Given the description of an element on the screen output the (x, y) to click on. 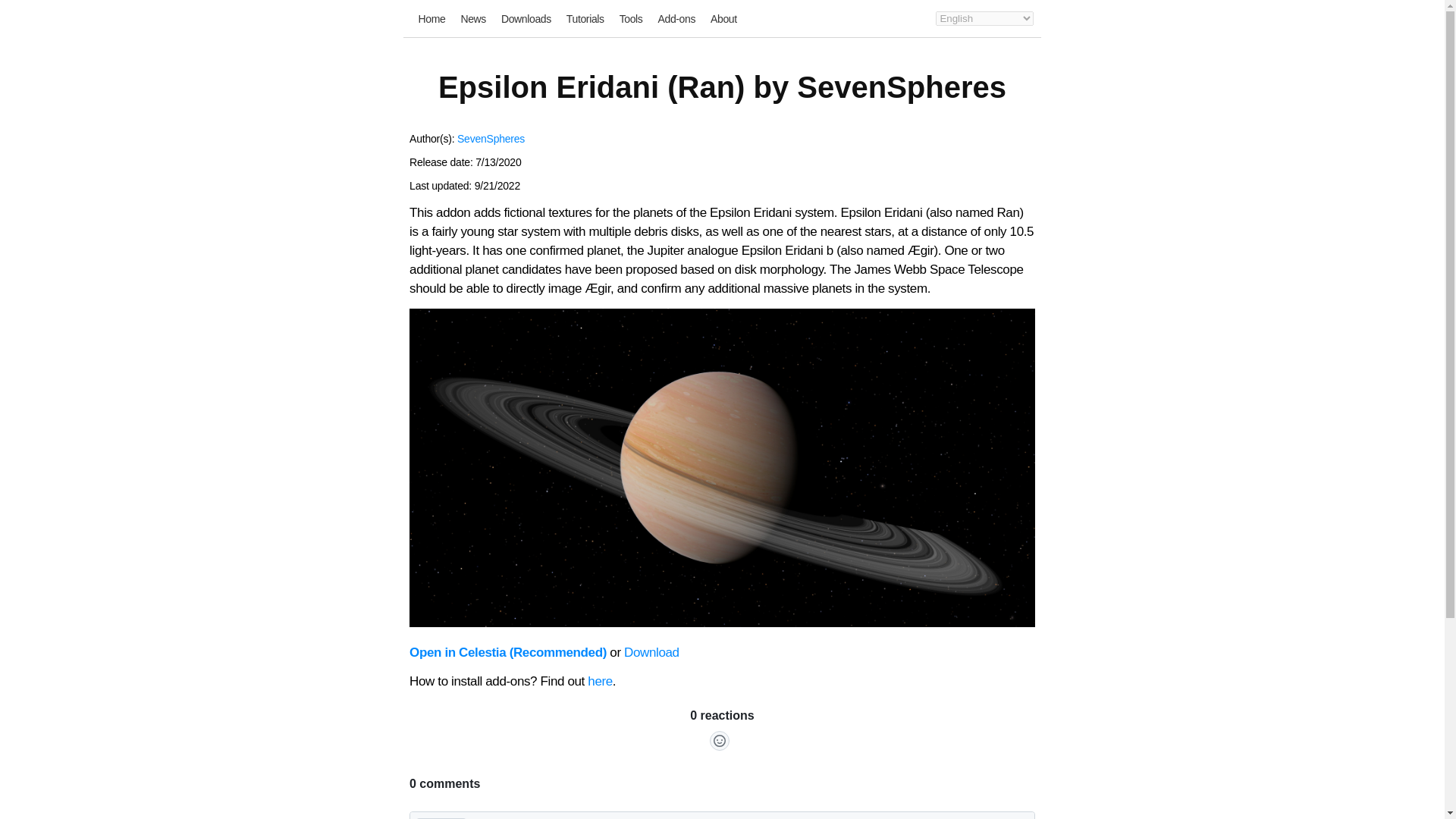
here (600, 681)
Tools (631, 19)
Home (432, 19)
Add-ons (676, 19)
Download (651, 652)
About (723, 19)
Downloads (525, 19)
Tutorials (585, 19)
News (473, 19)
Comments (722, 762)
SevenSpheres (490, 137)
